Given the description of an element on the screen output the (x, y) to click on. 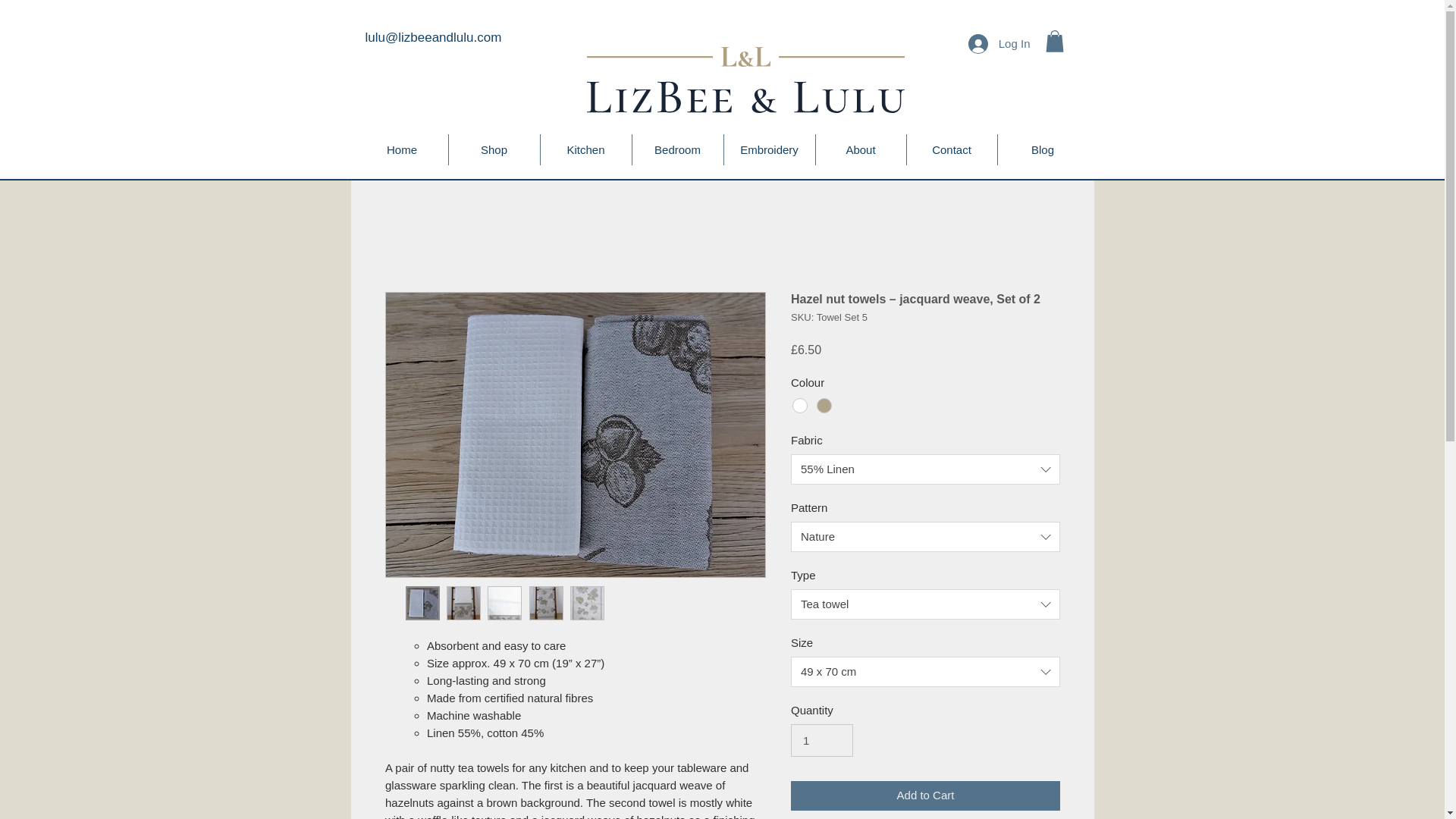
Bedroom (677, 149)
49 x 70 cm (924, 671)
Contact (952, 149)
Nature (924, 536)
Tea towel (924, 603)
Blog (1042, 149)
About (860, 149)
Home (402, 149)
1 (821, 740)
Embroidery (768, 149)
Kitchen (585, 149)
Log In (999, 42)
Add to Cart (924, 795)
Shop (494, 149)
